Given the description of an element on the screen output the (x, y) to click on. 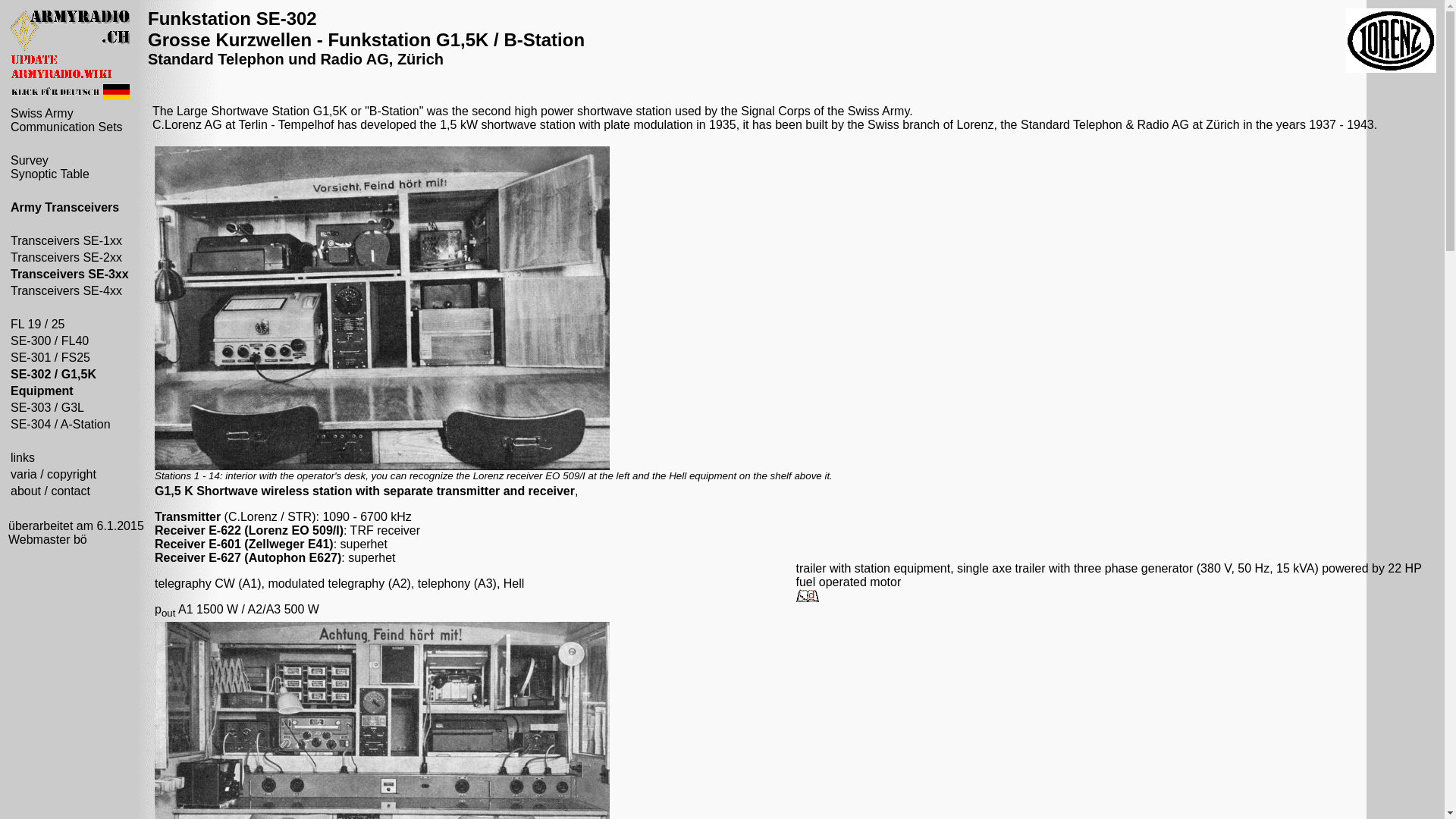
SE-302 / G1,5K Element type: text (53, 373)
SE-303 / G3L Element type: text (47, 407)
SE-301 / FS25 Element type: text (50, 357)
SE-304 / A-Station Element type: text (60, 423)
about / contact Element type: text (50, 490)
Equipment Element type: text (41, 390)
Zellweger E41 Element type: text (288, 543)
Transceivers SE-2xx Element type: text (66, 257)
Transceivers SE-4xx Element type: text (66, 290)
Autophon E627 Element type: text (292, 557)
Swiss Army Communication Sets Element type: text (66, 119)
Survey
Synoptic Table Element type: text (49, 166)
Lorenz EO 509/I Element type: text (293, 530)
SE-300 / FL40 Element type: text (49, 340)
Army Transceivers Element type: text (64, 206)
links Element type: text (22, 457)
Transceivers SE-1xx Element type: text (66, 240)
Transceivers SE-3xx Element type: text (69, 273)
varia / copyright Element type: text (53, 473)
FL 19 / 25 Element type: text (37, 323)
